Given the description of an element on the screen output the (x, y) to click on. 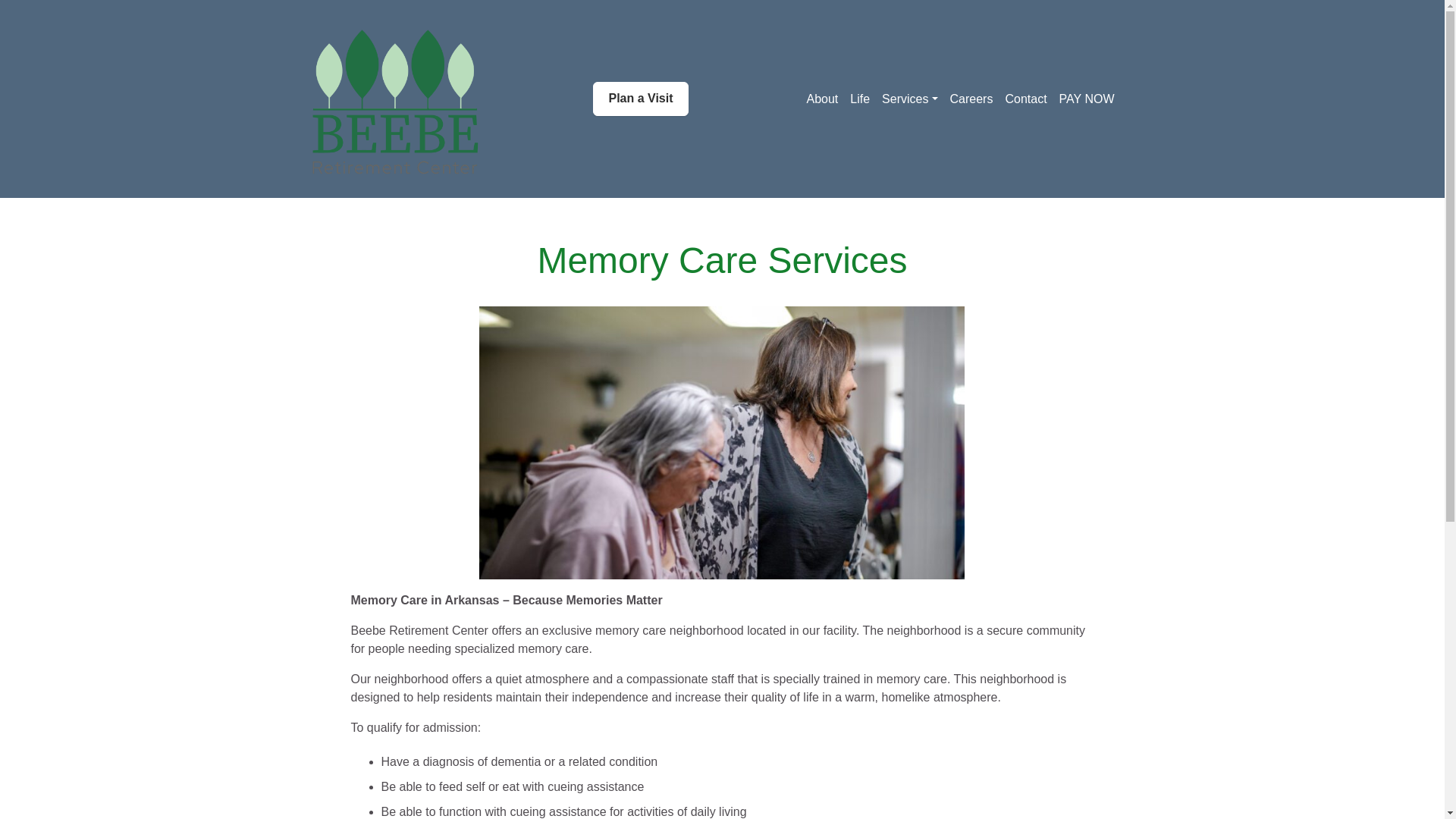
Services (909, 98)
Life (860, 98)
Contact (1025, 98)
PAY NOW (1086, 98)
Life (860, 98)
Careers (970, 98)
Contact (1025, 98)
Careers (970, 98)
Services (909, 98)
About (821, 98)
